Given the description of an element on the screen output the (x, y) to click on. 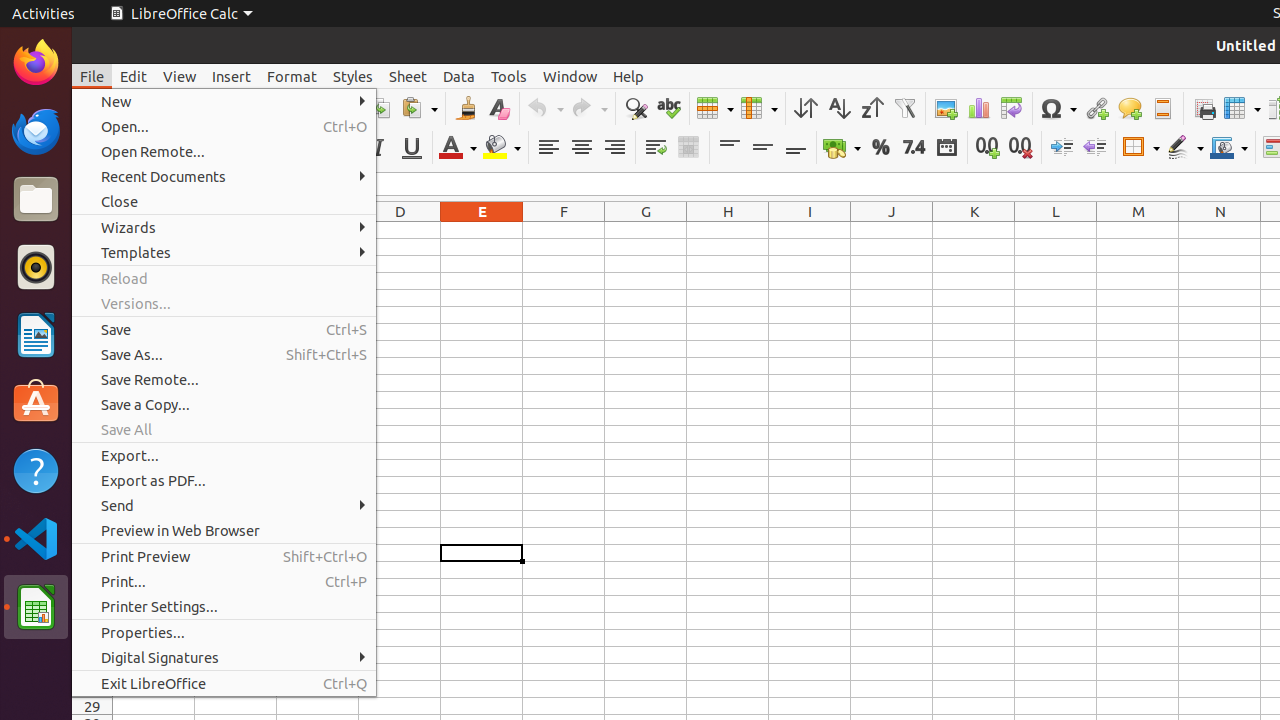
File Element type: menu (92, 76)
K1 Element type: table-cell (974, 230)
Digital Signatures Element type: menu (224, 657)
Background Color Element type: push-button (502, 147)
N1 Element type: table-cell (1220, 230)
